Given the description of an element on the screen output the (x, y) to click on. 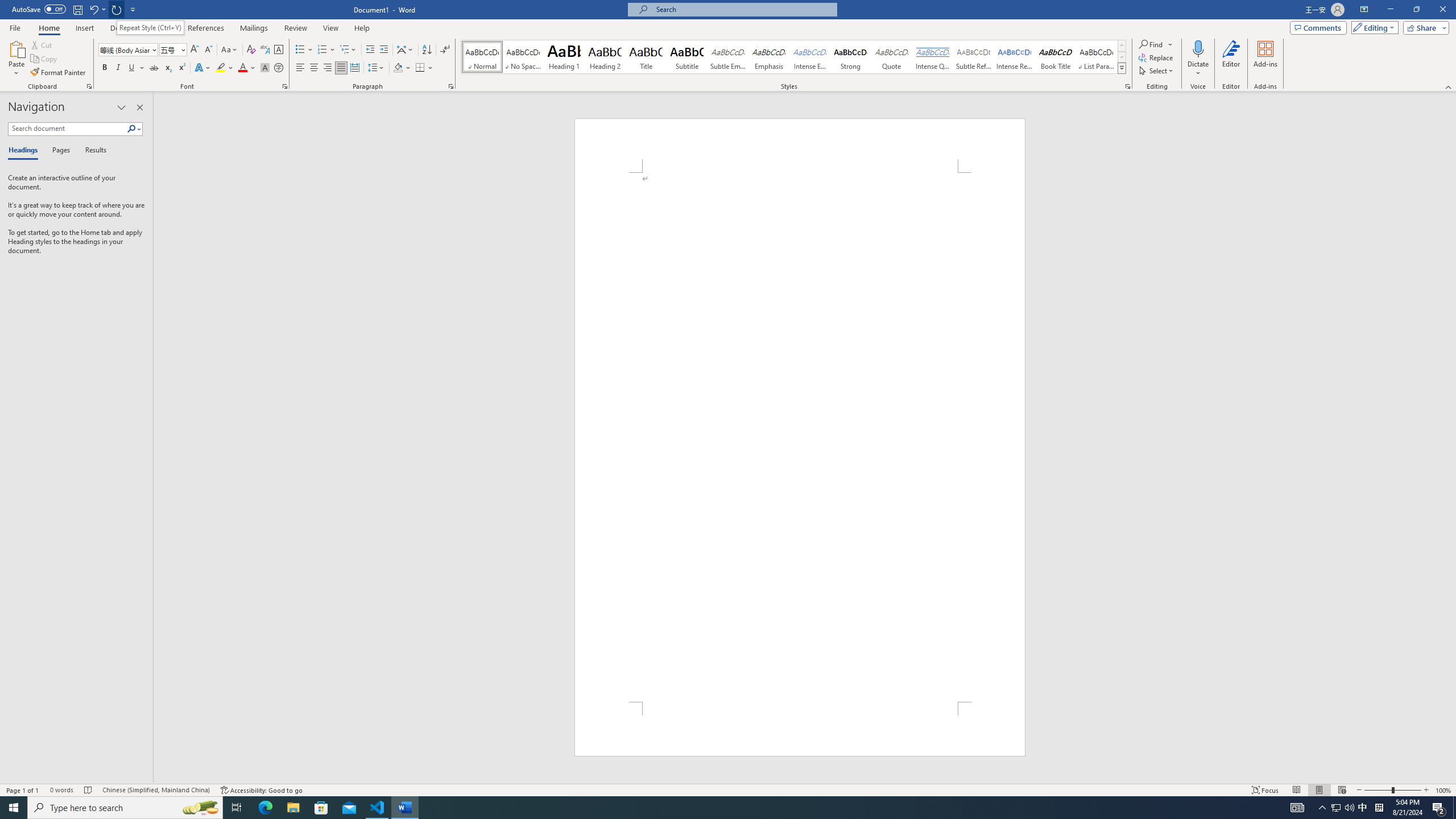
Subtitle (686, 56)
Close pane (139, 107)
Zoom Out (1377, 790)
Bullets (300, 49)
Office Clipboard... (88, 85)
Center (313, 67)
AutomationID: QuickStylesGallery (794, 56)
Heading 1 (564, 56)
Design (122, 28)
File Tab (15, 27)
Numbering (322, 49)
Line and Paragraph Spacing (376, 67)
Intense Emphasis (809, 56)
Decrease Indent (370, 49)
